Given the description of an element on the screen output the (x, y) to click on. 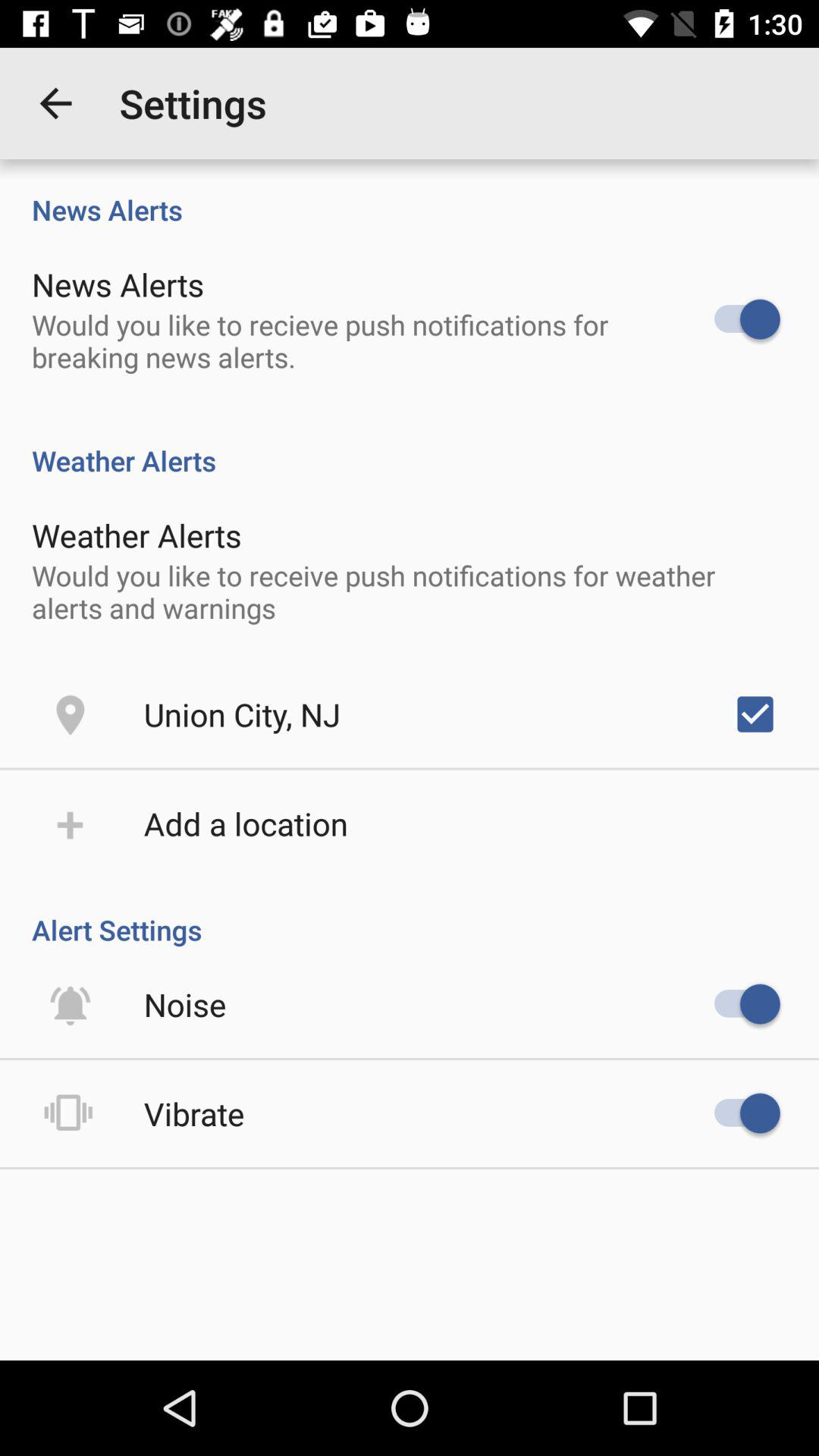
jump to add a location (245, 823)
